Given the description of an element on the screen output the (x, y) to click on. 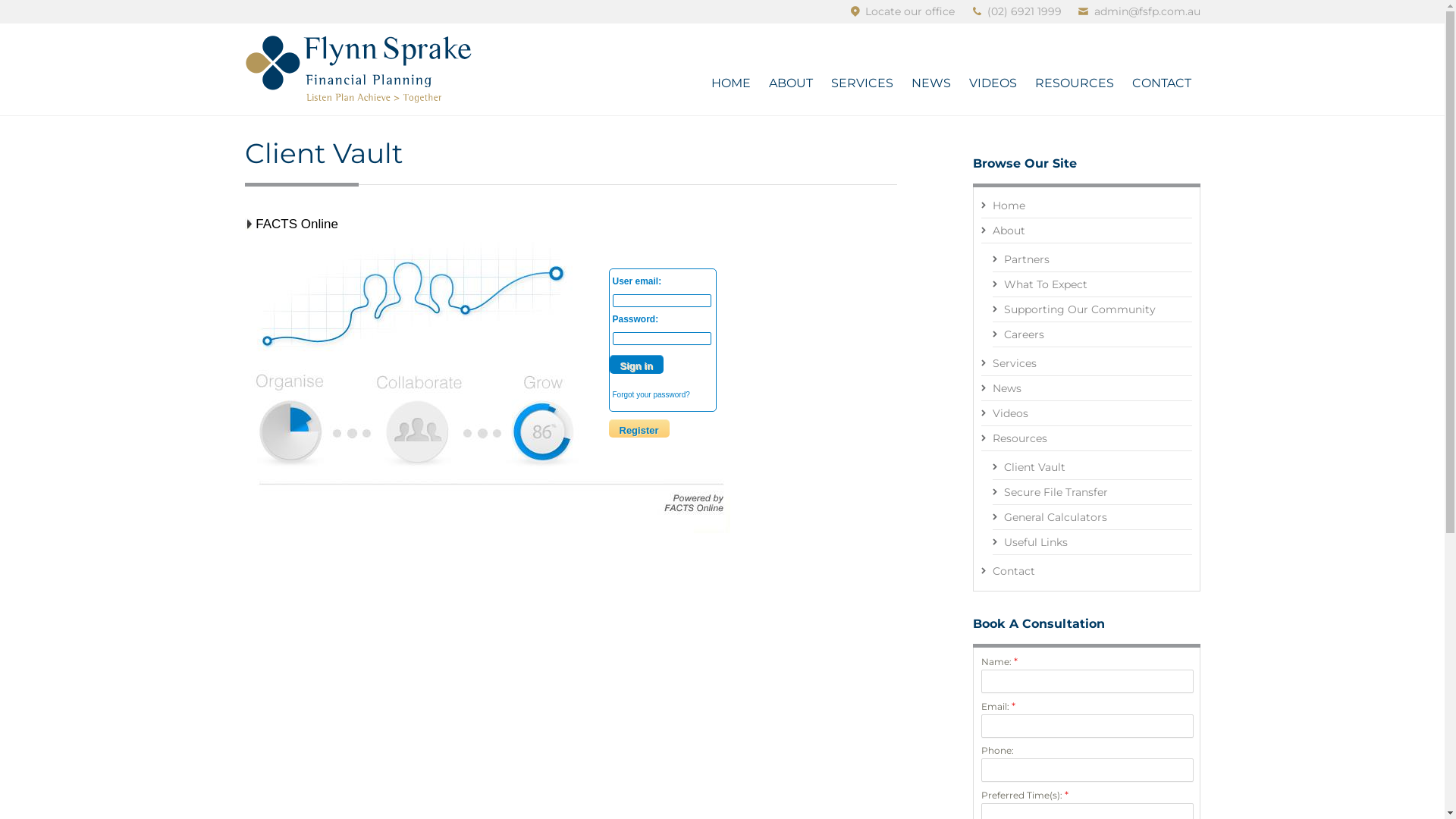
Contact Element type: text (1086, 570)
ABOUT Element type: text (790, 83)
HOME Element type: text (730, 83)
Services Element type: text (1086, 363)
What To Expect Element type: text (1091, 284)
Careers Element type: text (1091, 334)
About Element type: text (1086, 230)
Supporting Our Community Element type: text (1091, 309)
admin@fsfp.com.au Element type: text (1146, 11)
SERVICES Element type: text (861, 83)
Register Element type: text (638, 428)
RESOURCES Element type: text (1073, 83)
Resources Element type: text (1086, 438)
Locate our office Element type: text (909, 11)
CONTACT Element type: text (1160, 83)
Sign in Element type: text (636, 363)
Home Element type: text (1086, 205)
News Element type: text (1086, 388)
(02) 6921 1999 Element type: text (1024, 11)
VIDEOS Element type: text (992, 83)
Forgot your password? Element type: text (651, 394)
Useful Links Element type: text (1091, 542)
Videos Element type: text (1086, 413)
NEWS Element type: text (930, 83)
General Calculators Element type: text (1091, 517)
Secure File Transfer Element type: text (1091, 492)
Partners Element type: text (1091, 259)
Client Vault Element type: text (1091, 467)
